Given the description of an element on the screen output the (x, y) to click on. 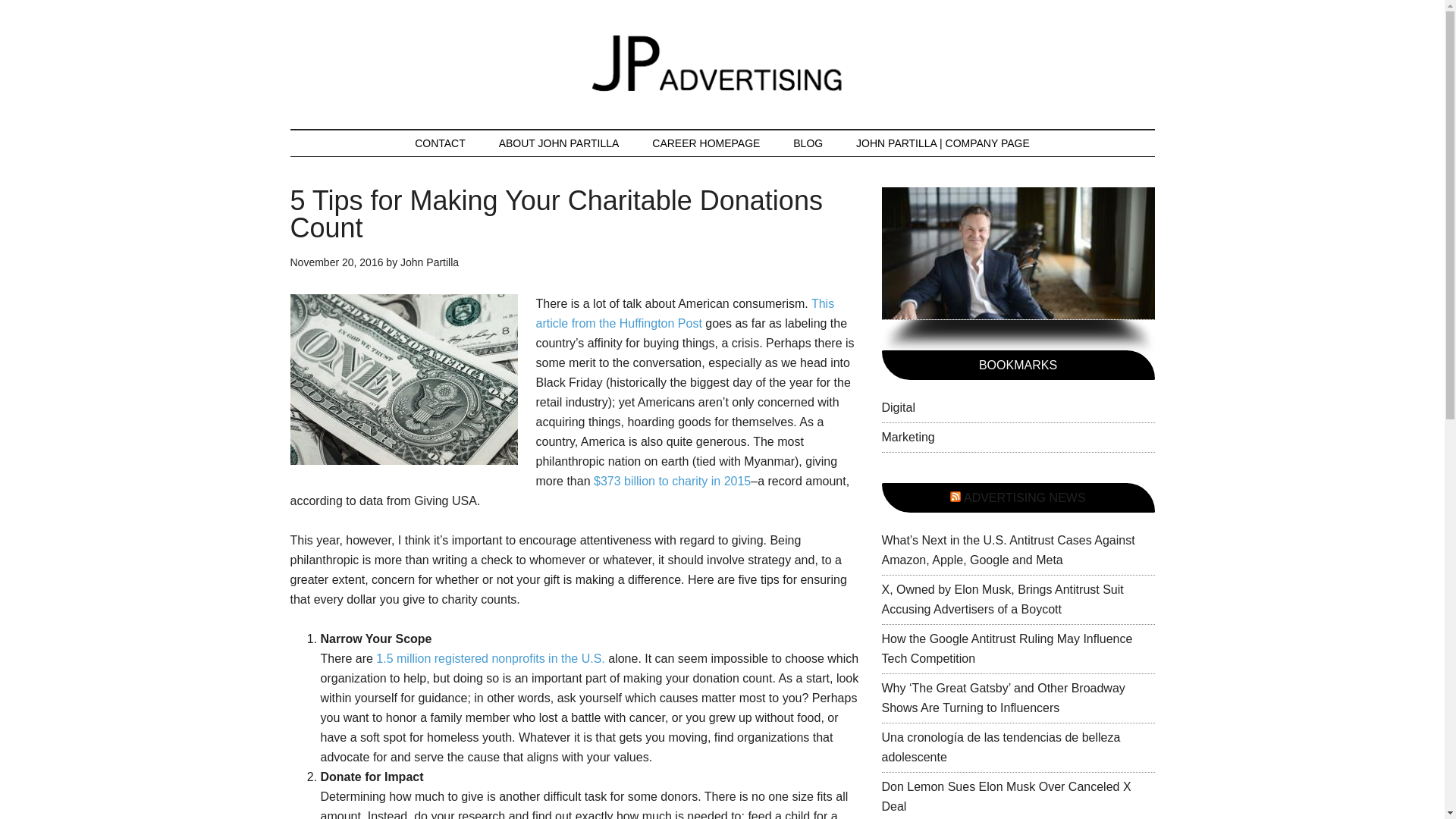
BLOG (807, 143)
ADVERTISING NEWS (1024, 497)
1.5 million registered nonprofits in the U.S. (489, 658)
Marketing (907, 436)
John Partilla (429, 262)
This article from the Huffington Post (684, 313)
Digital (897, 407)
CAREER HOMEPAGE (705, 143)
5 Tips for Making Your Charitable Donations Count (555, 214)
